Given the description of an element on the screen output the (x, y) to click on. 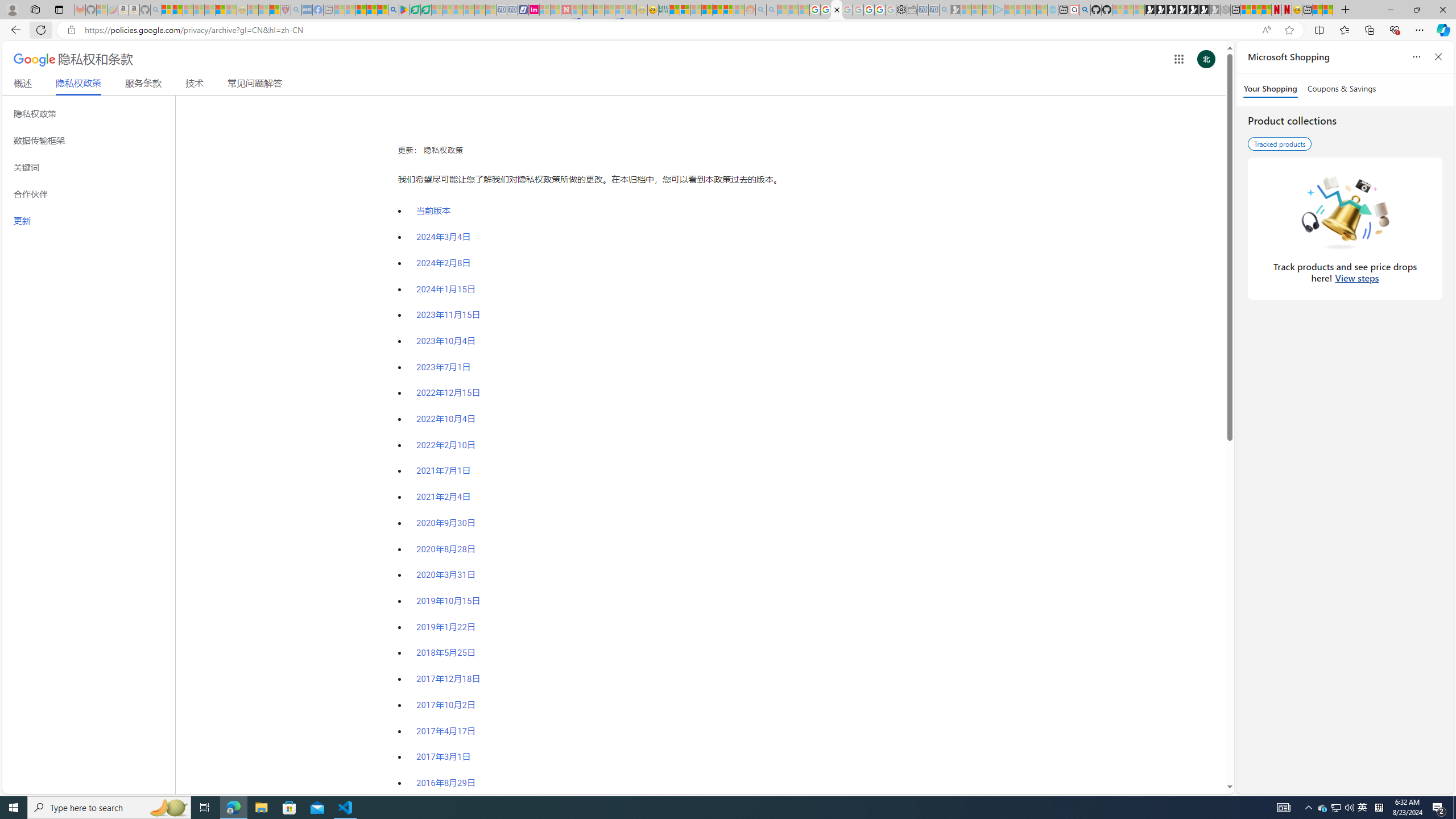
Class: gb_E (1178, 59)
github - Search (1084, 9)
